Given the description of an element on the screen output the (x, y) to click on. 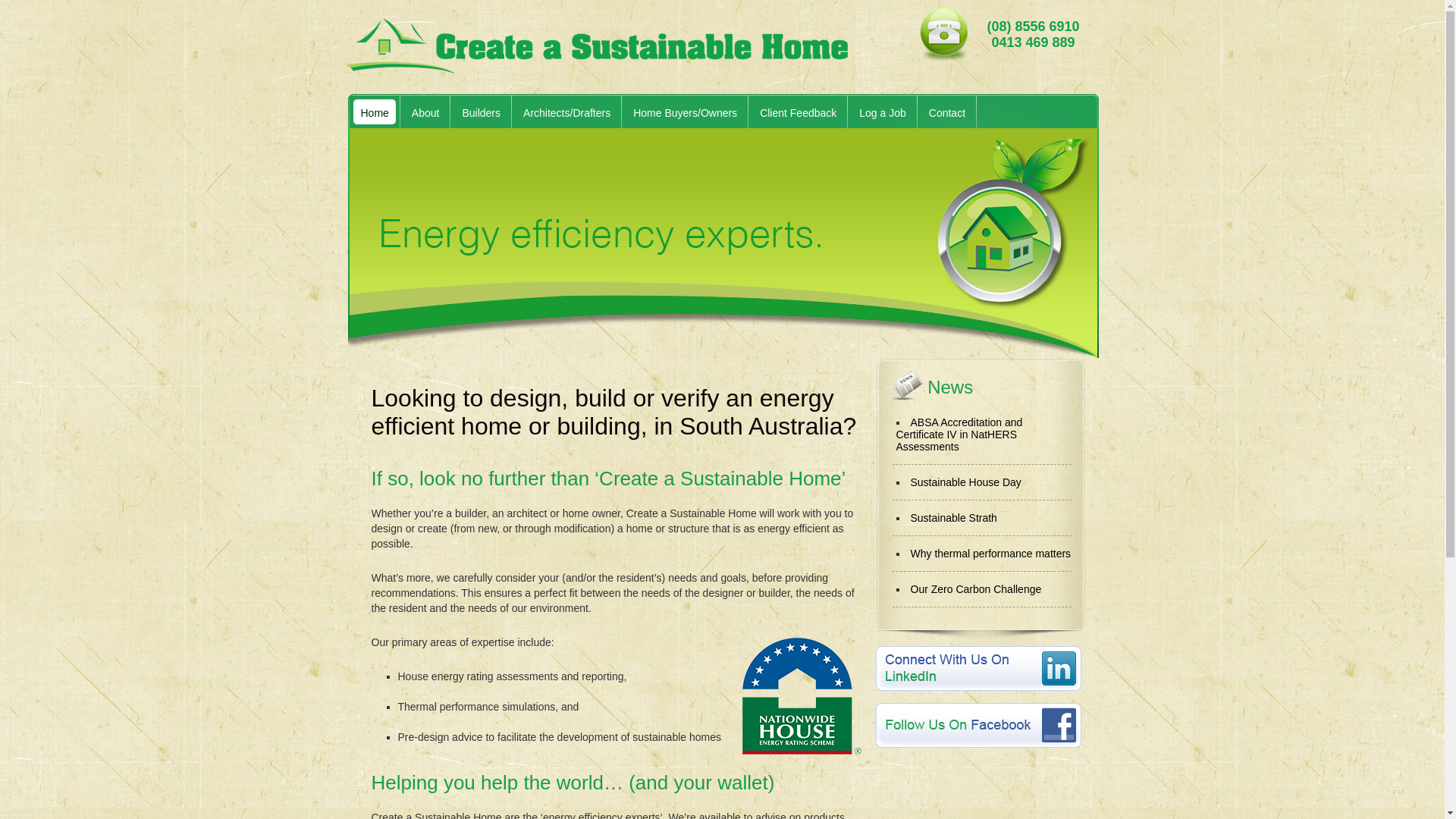
House Energy Rating Element type: hover (800, 695)
Client Feedback Element type: text (792, 112)
Sustainable House Day Element type: text (965, 482)
Why thermal performance matters Element type: text (990, 553)
Builders Element type: text (475, 112)
Our Zero Carbon Challenge Element type: text (975, 589)
Contact Element type: text (941, 112)
About Element type: text (419, 112)
Architects/Drafters Element type: text (560, 112)
Home Buyers/Owners Element type: text (679, 112)
Log a Job Element type: text (876, 112)
Home Element type: text (368, 112)
Sustainable Strath Element type: text (953, 517)
ABSA Accreditation and Certificate IV in NatHERS Assessments Element type: text (959, 434)
